Given the description of an element on the screen output the (x, y) to click on. 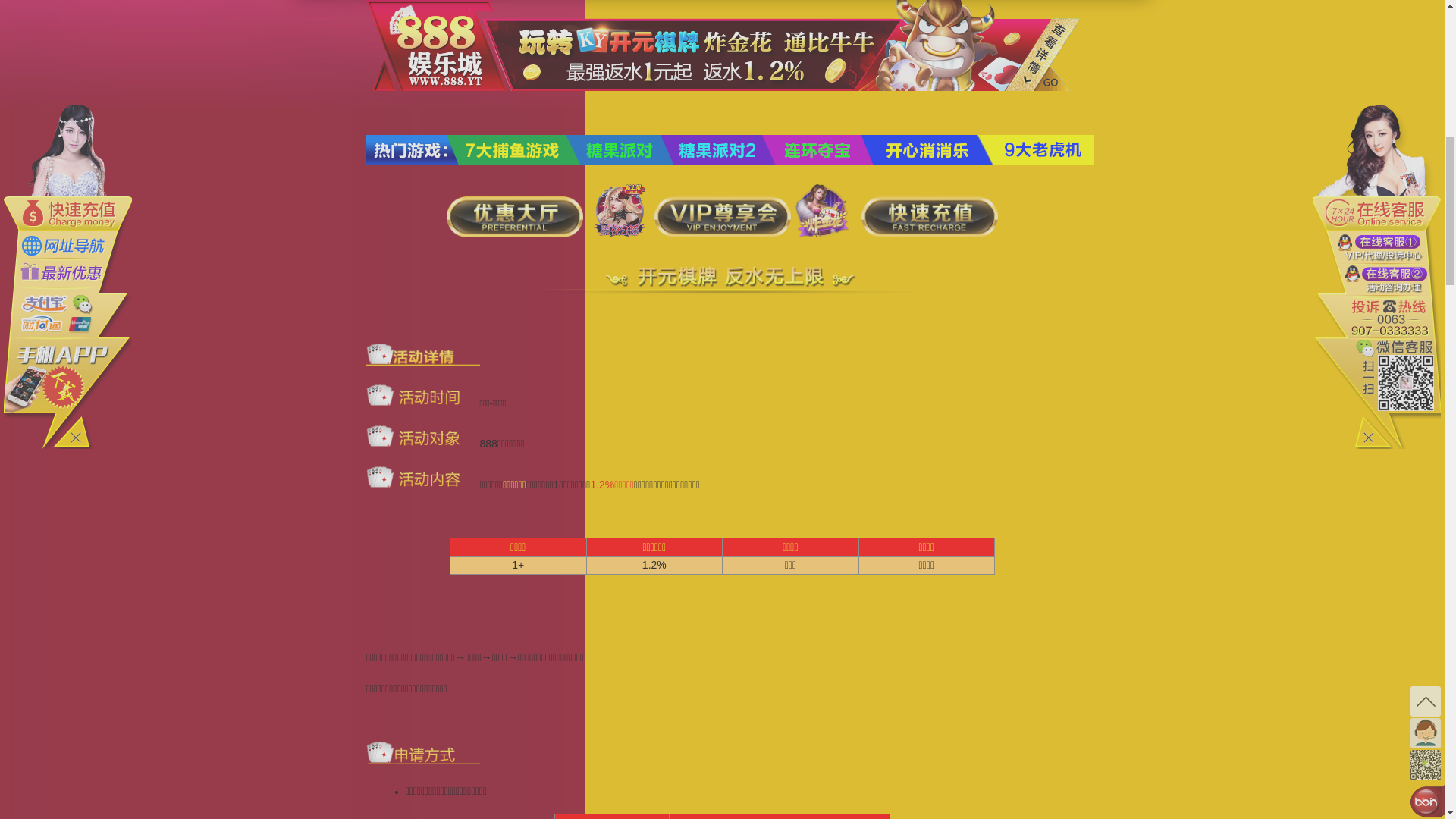
English Element type: hover (1107, 17)
